Given the description of an element on the screen output the (x, y) to click on. 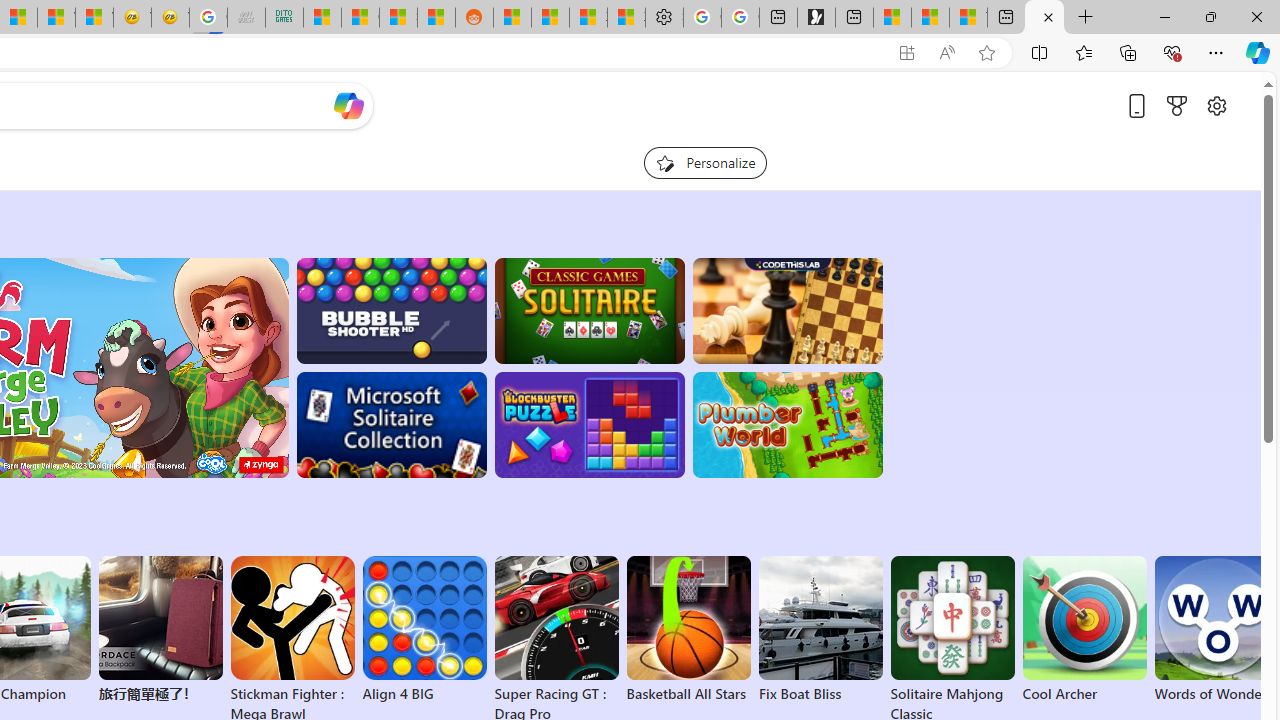
Classic Solitaire (589, 310)
Master Chess (787, 310)
R******* | Trusted Community Engagement and Contributions (512, 17)
Enhance video (946, 53)
